Given the description of an element on the screen output the (x, y) to click on. 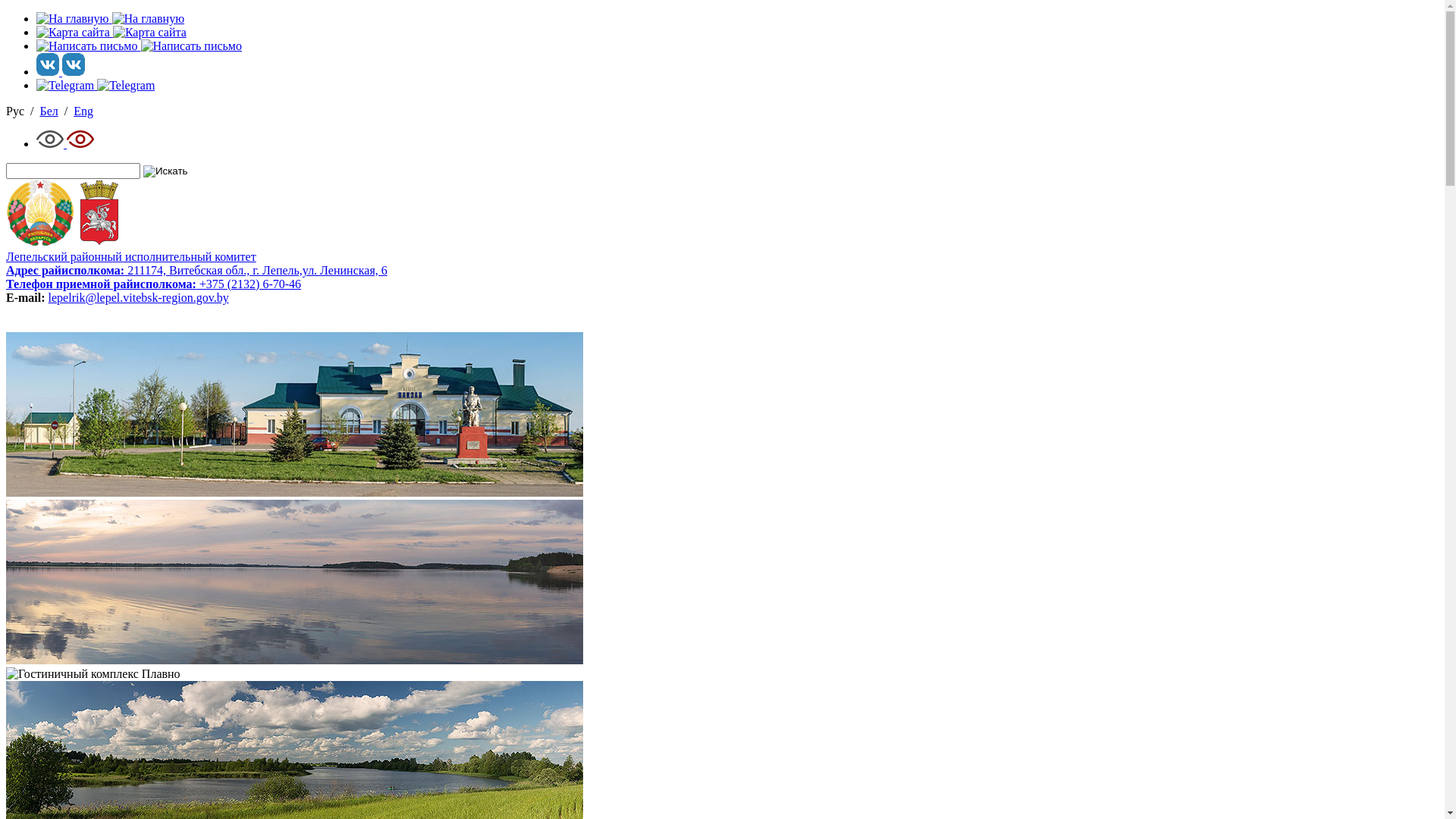
lepelrik@lepel.vitebsk-region.gov.by Element type: text (138, 297)
Telegram Element type: hover (95, 84)
Eng Element type: text (83, 110)
